Given the description of an element on the screen output the (x, y) to click on. 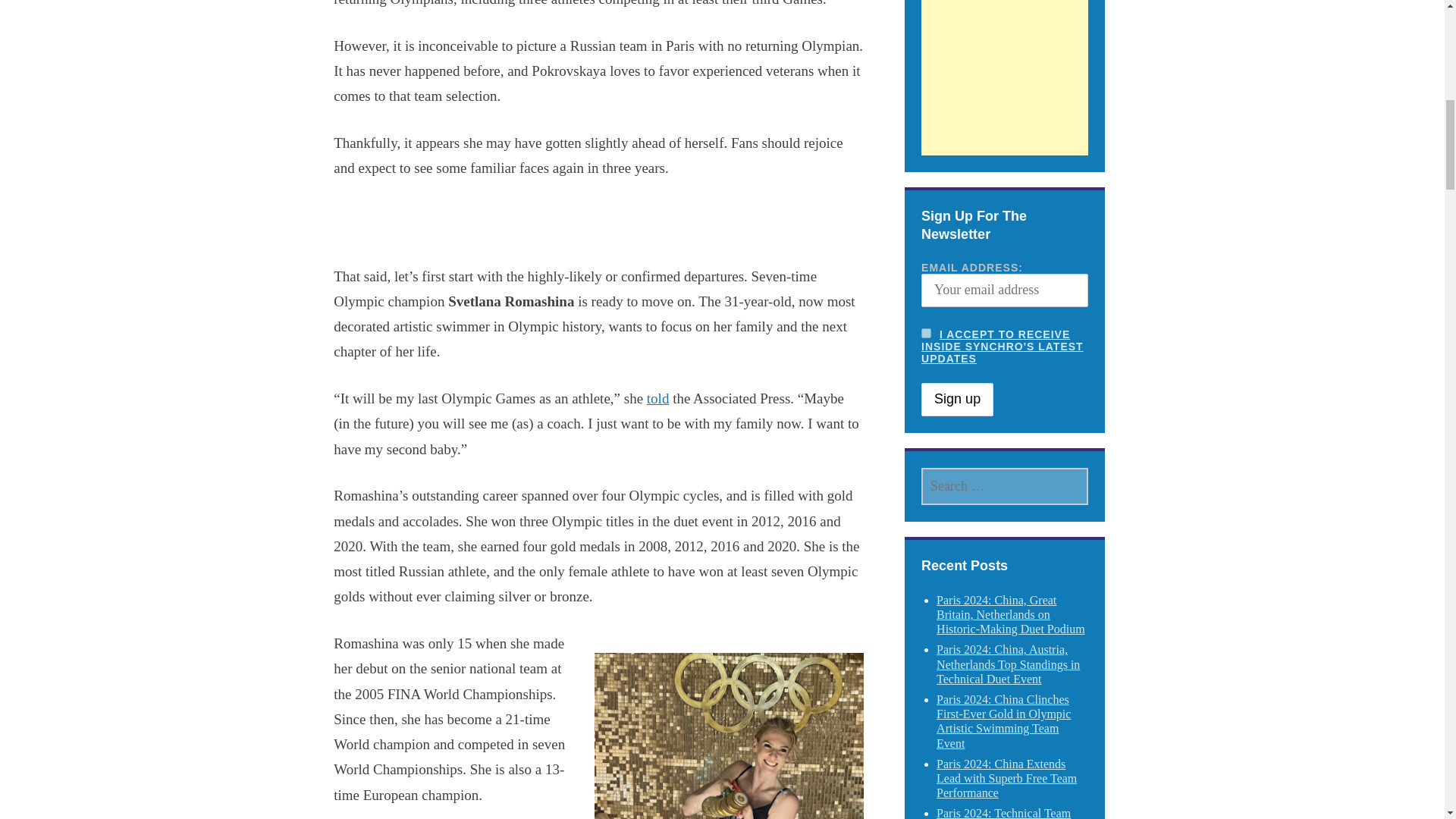
1 (926, 333)
Advertisement (1004, 86)
Sign up (956, 399)
